Given the description of an element on the screen output the (x, y) to click on. 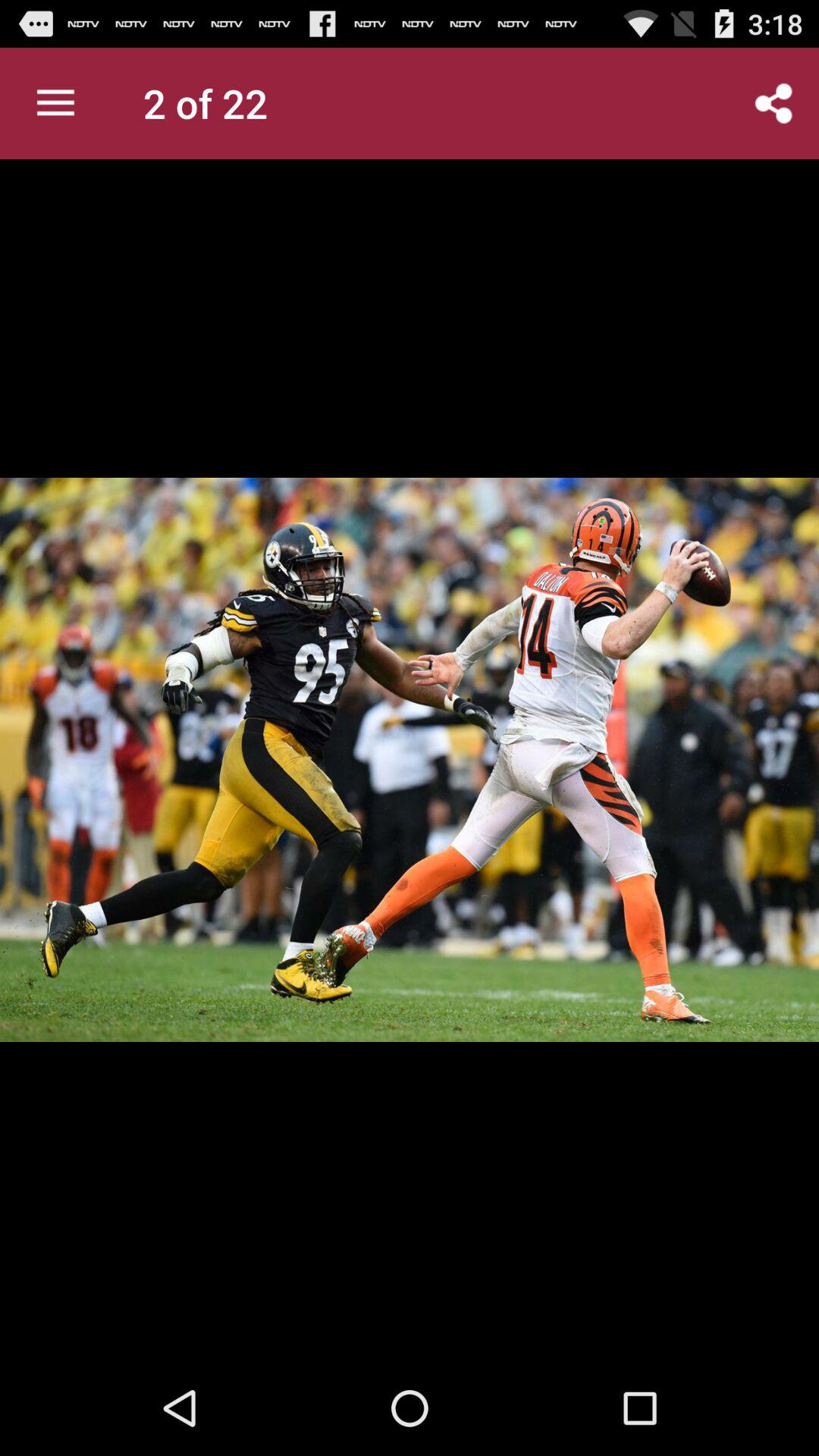
select item to the left of the 2 of 22 (55, 103)
